Given the description of an element on the screen output the (x, y) to click on. 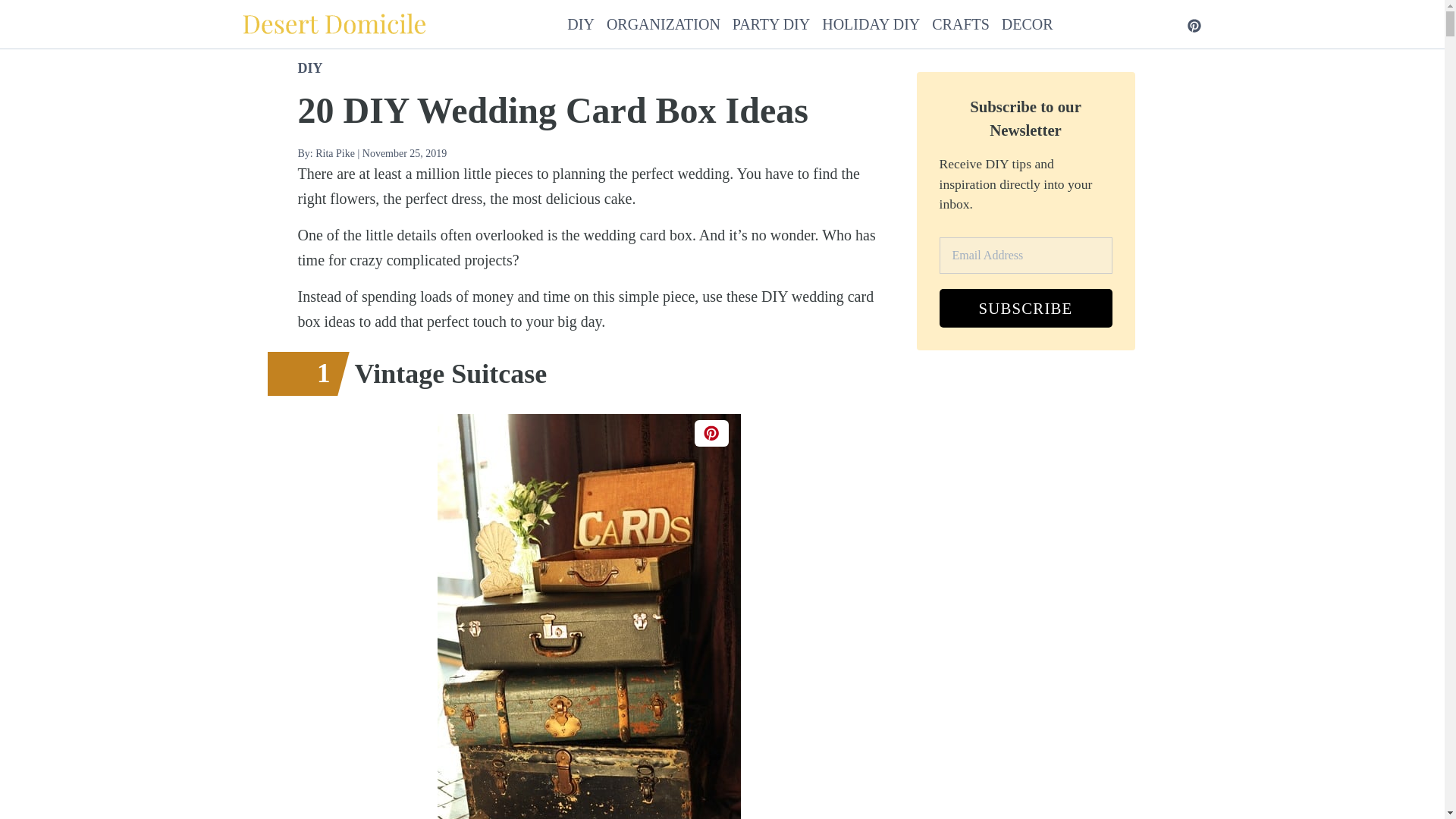
CRAFTS (960, 23)
ORGANIZATION (663, 23)
DIY (309, 68)
HOLIDAY DIY (871, 23)
PARTY DIY (770, 23)
Pinterest (1193, 23)
Rita Pike (334, 153)
DECOR (1026, 23)
DIY (580, 23)
